Given the description of an element on the screen output the (x, y) to click on. 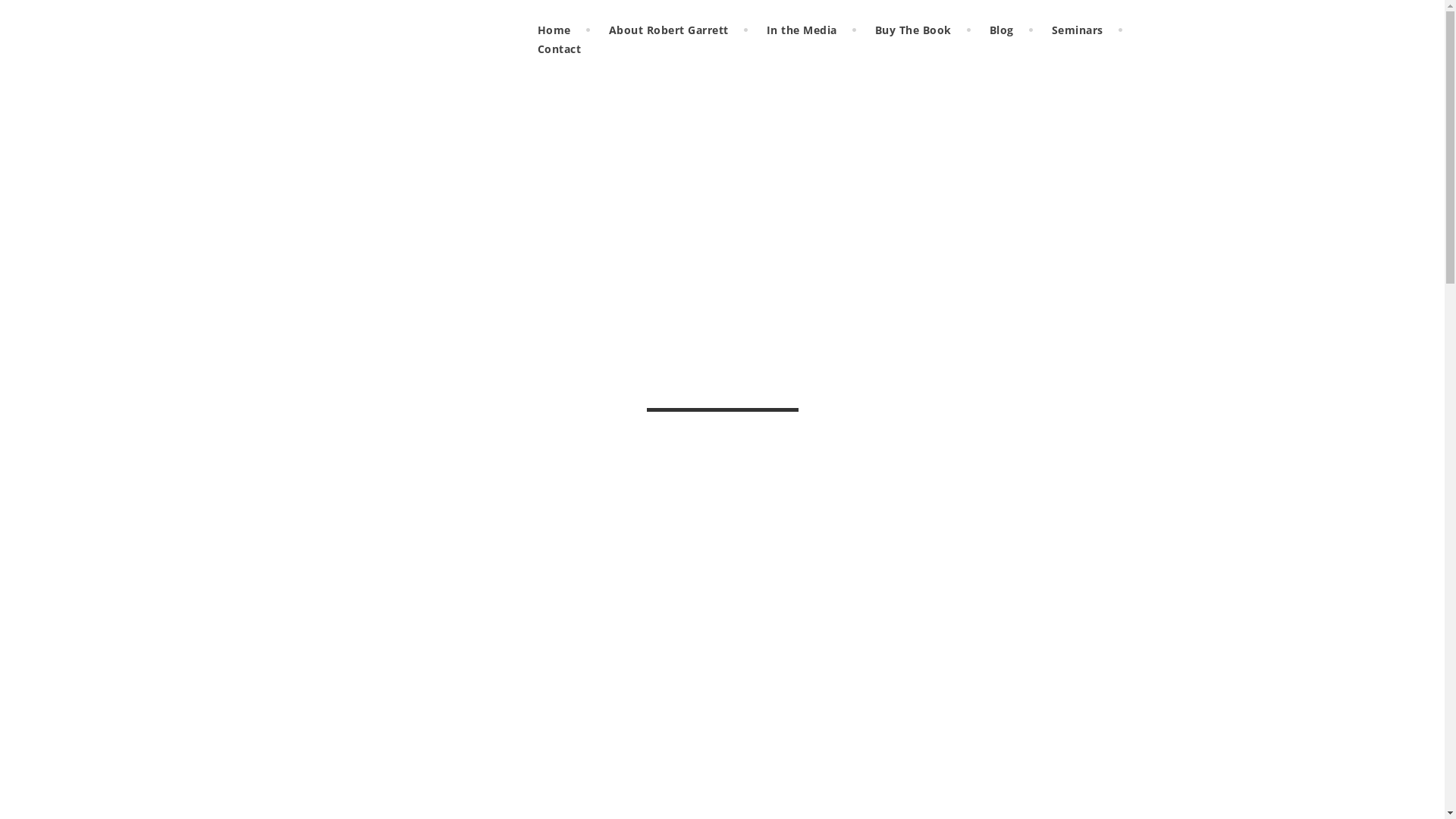
Teenagers reflection on self-obsessed Instagram life Element type: text (1005, 744)
Social Media P Plates for Teens - 1079 Life Element type: text (1017, 716)
Contact Element type: text (559, 48)
Home Element type: text (554, 29)
Teenagers reflection on self-obsessed Instagram life Element type: text (1021, 685)
In the Media Element type: text (801, 29)
With Us or Against Us? Healthy Disagreement Element type: text (1024, 390)
3 Habits to Develop Healthy Parental Downtime Element type: text (469, 805)
More Like the Father Element type: hover (410, 117)
Blog Element type: text (1001, 29)
About Robert Garrett Element type: text (668, 29)
Buy The Book Element type: text (913, 29)
Empowerment in Community Element type: text (983, 321)
Dads & Their Teenage Daughters Element type: text (1020, 562)
Seminars Element type: text (1077, 29)
Search Element type: text (1129, 193)
